Given the description of an element on the screen output the (x, y) to click on. 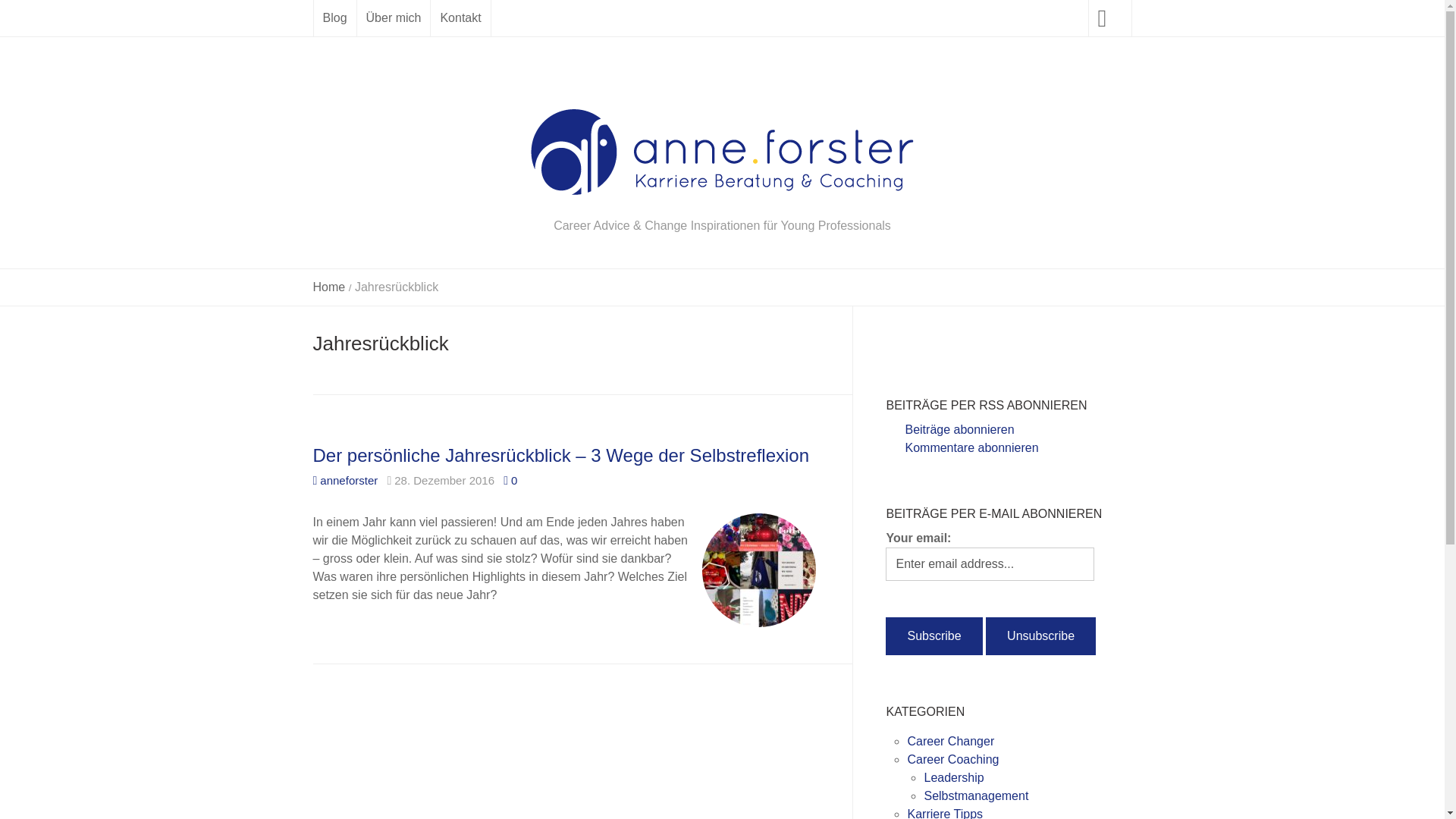
Leadership Element type: text (953, 777)
Home Element type: text (328, 286)
Career Coaching Element type: text (952, 759)
Kontakt Element type: text (459, 18)
Unsubscribe Element type: text (1040, 636)
Blog Element type: text (334, 18)
Career Changer Element type: text (950, 740)
Kommentare abonnieren Element type: text (961, 447)
anneforster Element type: text (344, 480)
0 Element type: text (510, 480)
Suche Element type: text (21, 18)
Subscribe Element type: text (933, 636)
Homepage von Anne Forster Element type: hover (987, 341)
Selbstmanagement Element type: text (975, 795)
